Given the description of an element on the screen output the (x, y) to click on. 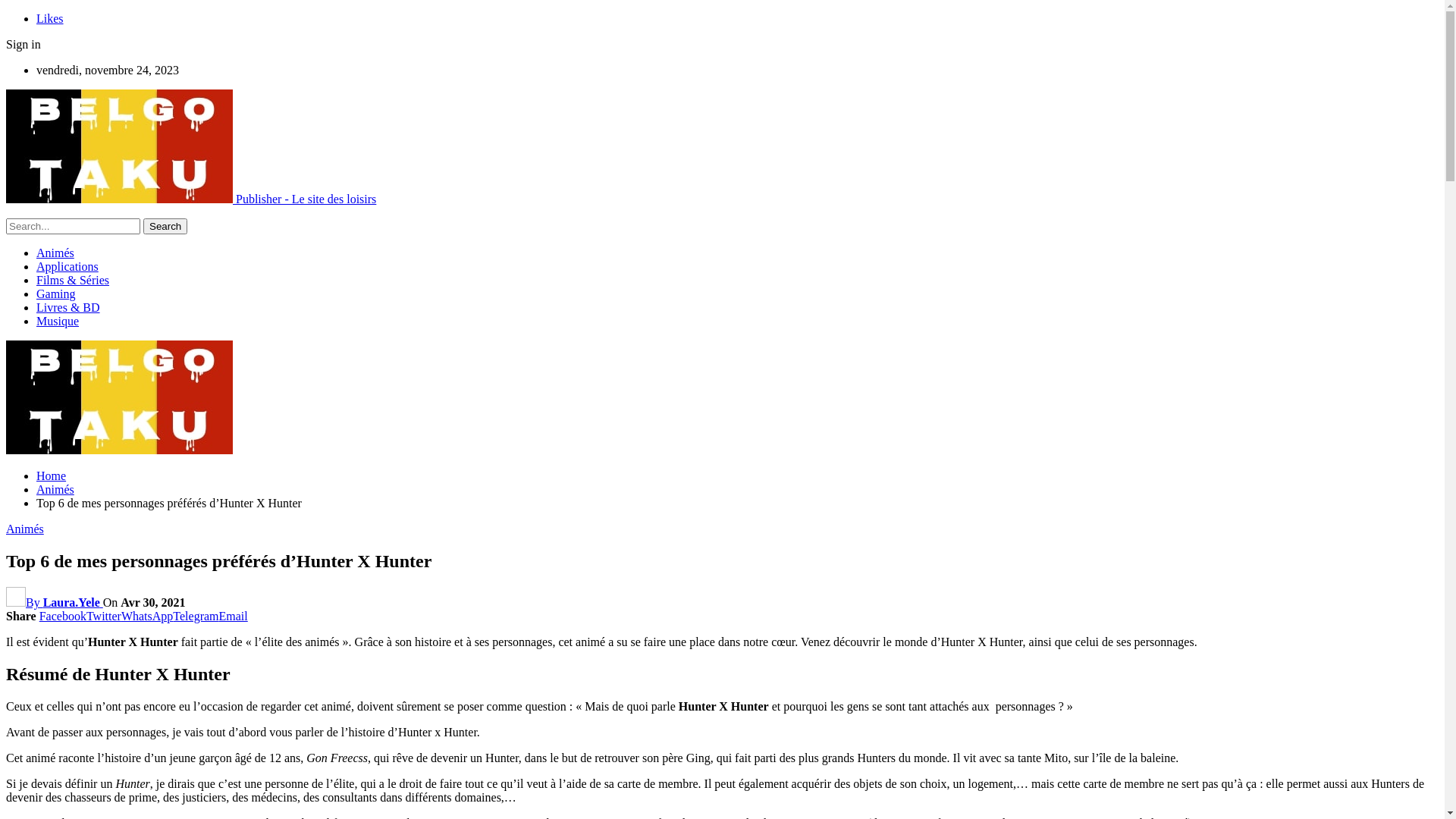
Telegram Element type: text (195, 615)
Likes Element type: text (49, 18)
Facebook Element type: text (62, 615)
Gaming Element type: text (55, 293)
Email Element type: text (233, 615)
Search for: Element type: hover (73, 226)
Search Element type: text (165, 226)
Applications Element type: text (67, 266)
Twitter Element type: text (103, 615)
Publisher - Le site des loisirs Element type: text (191, 198)
Livres & BD Element type: text (68, 307)
Musique Element type: text (57, 320)
Home Element type: text (50, 475)
Sign in Element type: text (23, 43)
By Laura.Yele Element type: text (54, 602)
WhatsApp Element type: text (146, 615)
